Given the description of an element on the screen output the (x, y) to click on. 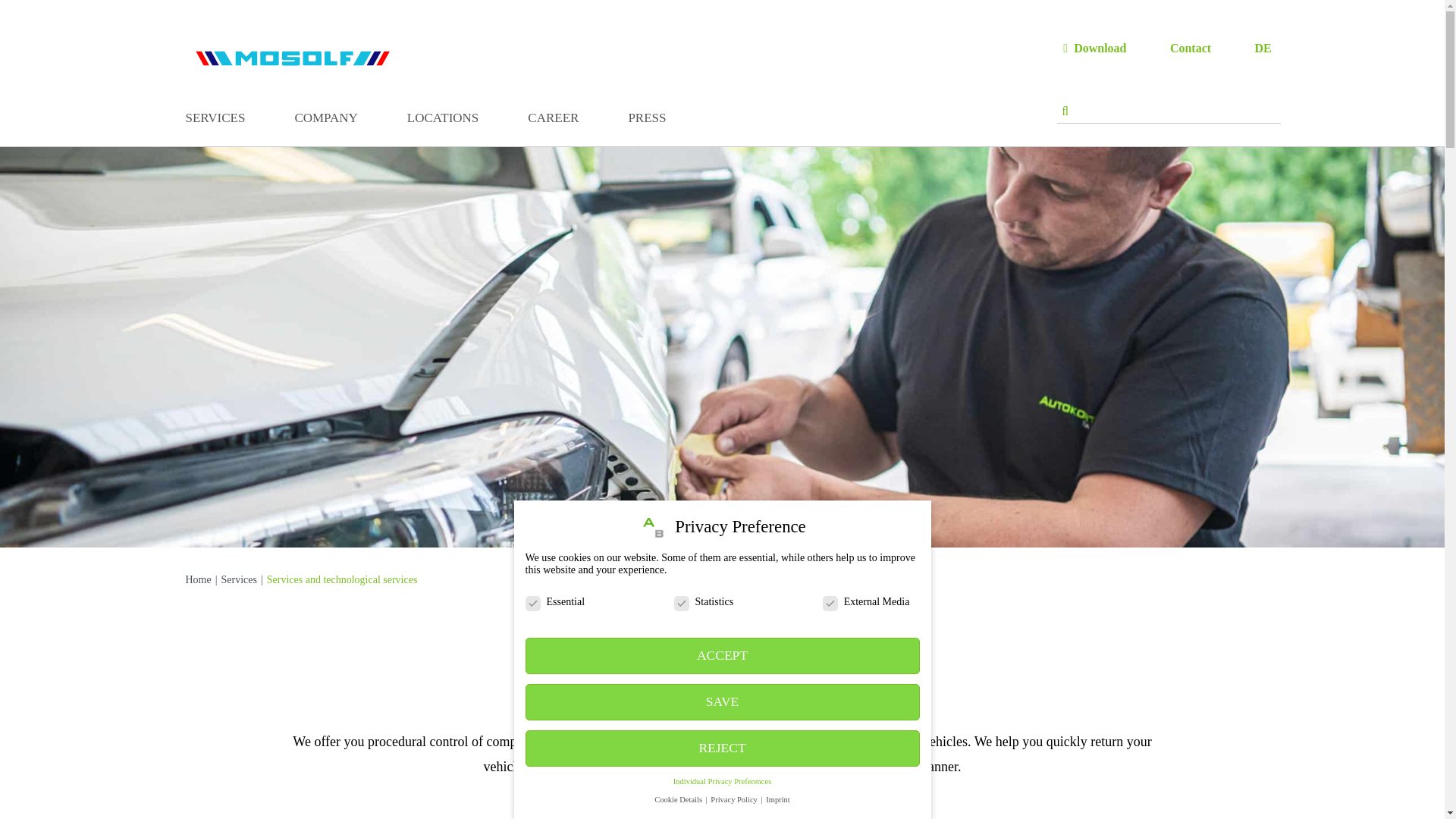
DE (1268, 48)
Services (238, 579)
Home (197, 579)
CAREER (552, 120)
SERVICES (214, 120)
Download (1096, 48)
DE (1268, 48)
Contact (1195, 48)
LOCATIONS (443, 120)
COMPANY (325, 120)
